Given the description of an element on the screen output the (x, y) to click on. 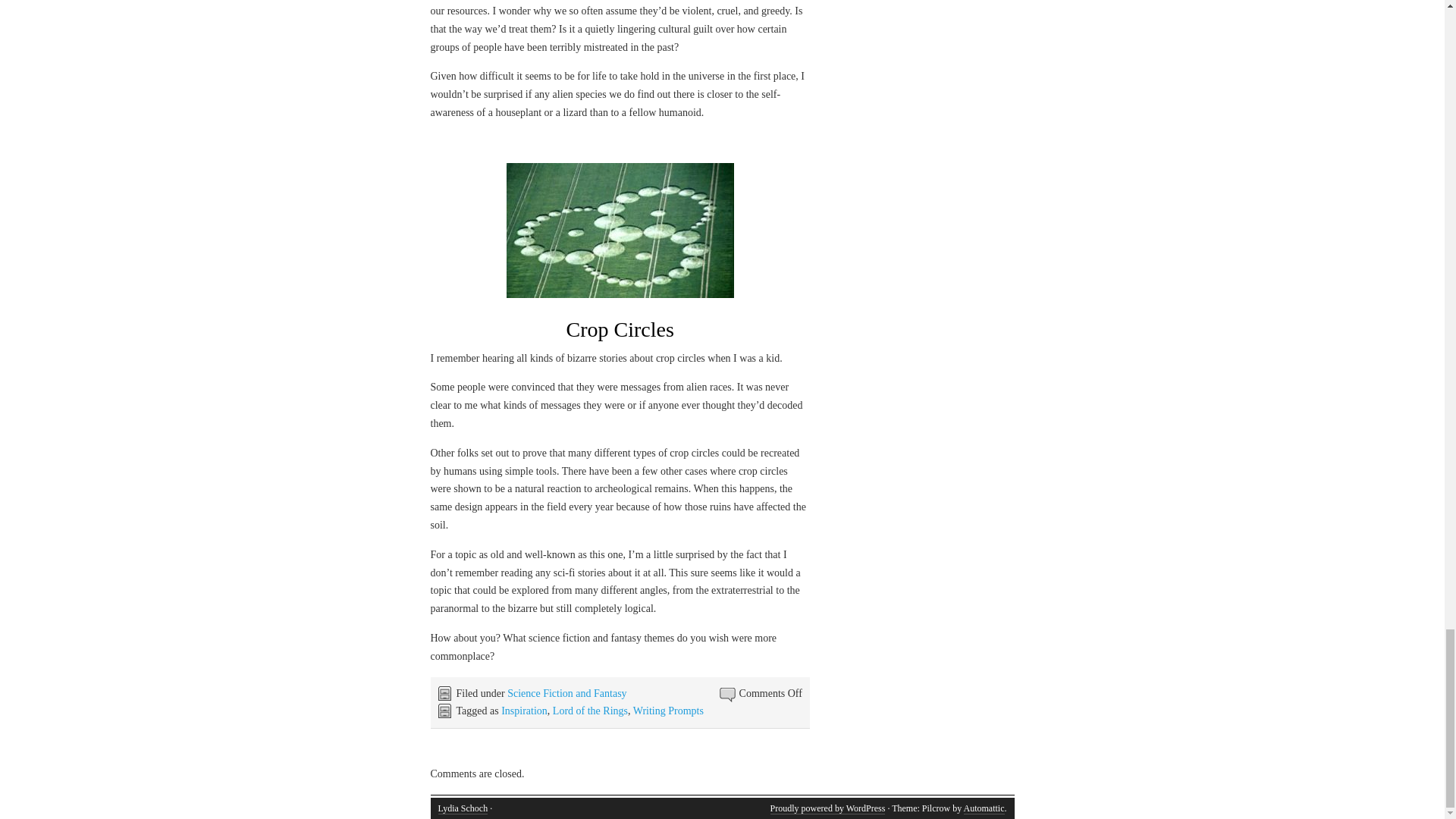
Proudly powered by WordPress (827, 808)
Writing Prompts (668, 710)
Inspiration (523, 710)
Lydia Schoch (462, 808)
Science Fiction and Fantasy (566, 693)
Lydia Schoch (462, 808)
Lord of the Rings (590, 710)
Automattic (983, 808)
A Semantic Personal Publishing Platform (827, 808)
